Given the description of an element on the screen output the (x, y) to click on. 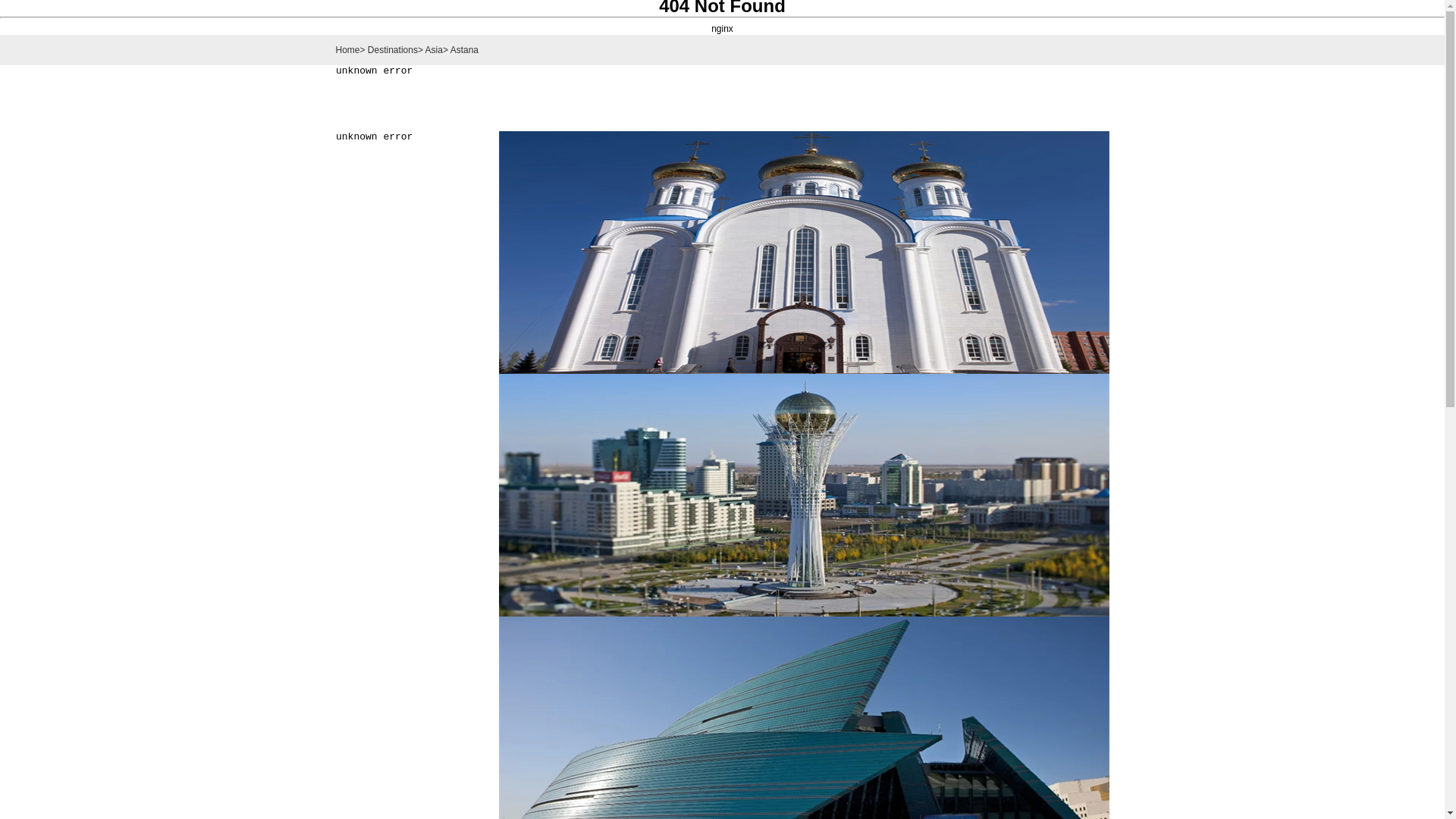
Astana (464, 50)
Home (346, 50)
Destinations (392, 50)
Asia (433, 50)
